Given the description of an element on the screen output the (x, y) to click on. 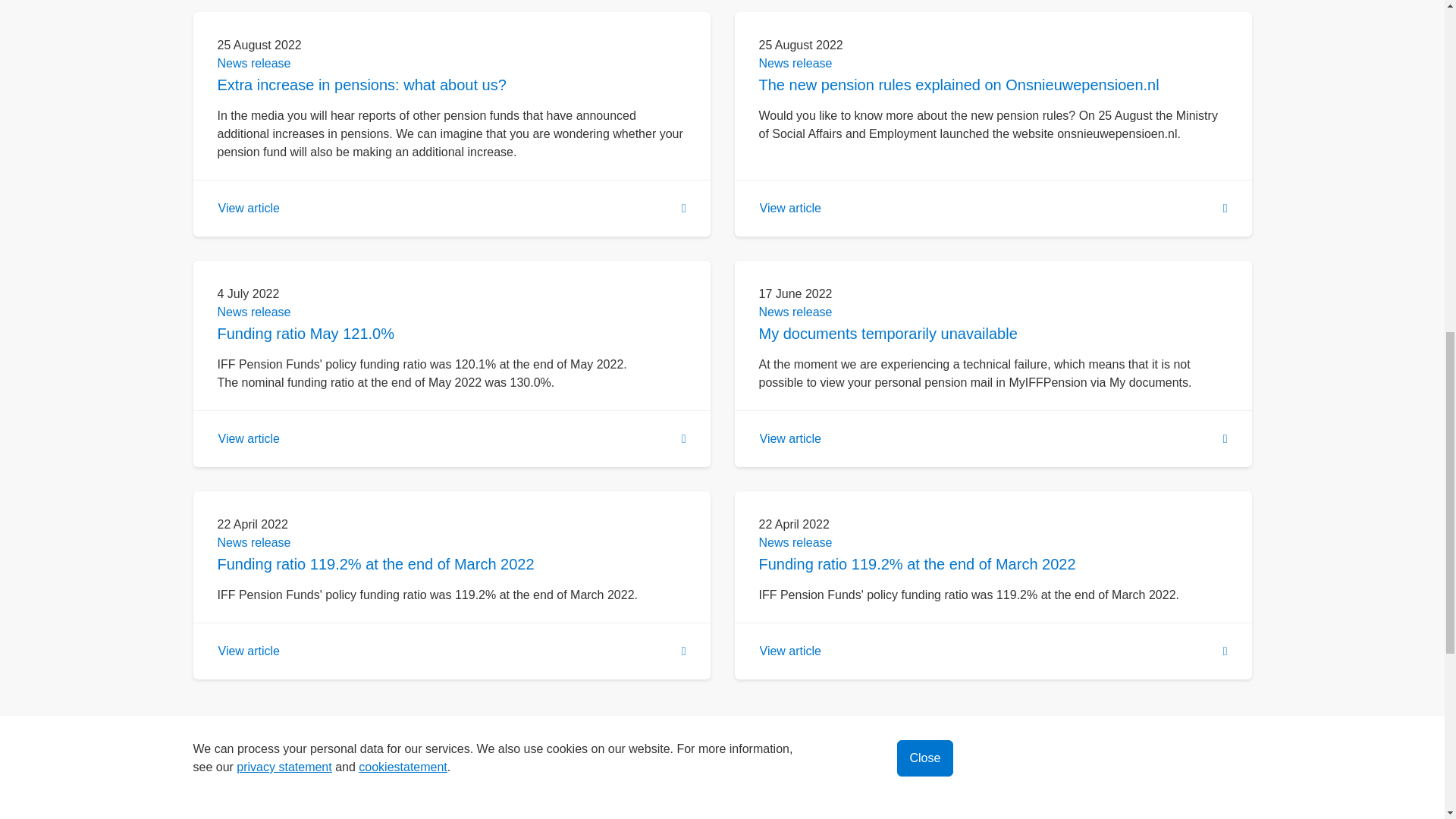
Go to page 12 (890, 736)
View article (992, 208)
Go to first page (414, 735)
View article (450, 650)
View article (450, 208)
Go to page 10 (796, 736)
View article (992, 438)
View article (450, 438)
Go to page 11 (843, 736)
